Given the description of an element on the screen output the (x, y) to click on. 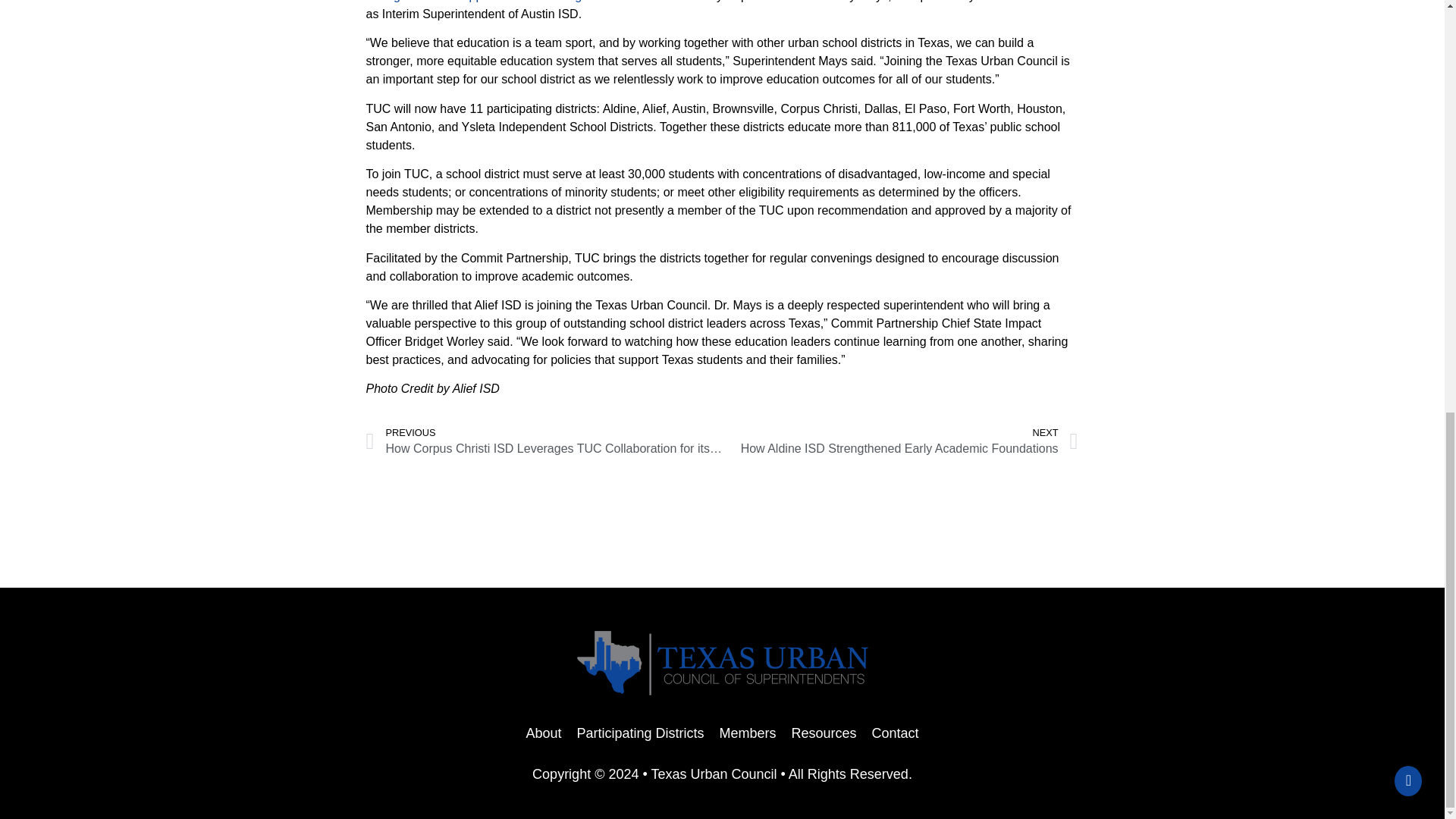
Participating Districts (900, 441)
Members (640, 733)
About (747, 733)
Resources (543, 733)
